Given the description of an element on the screen output the (x, y) to click on. 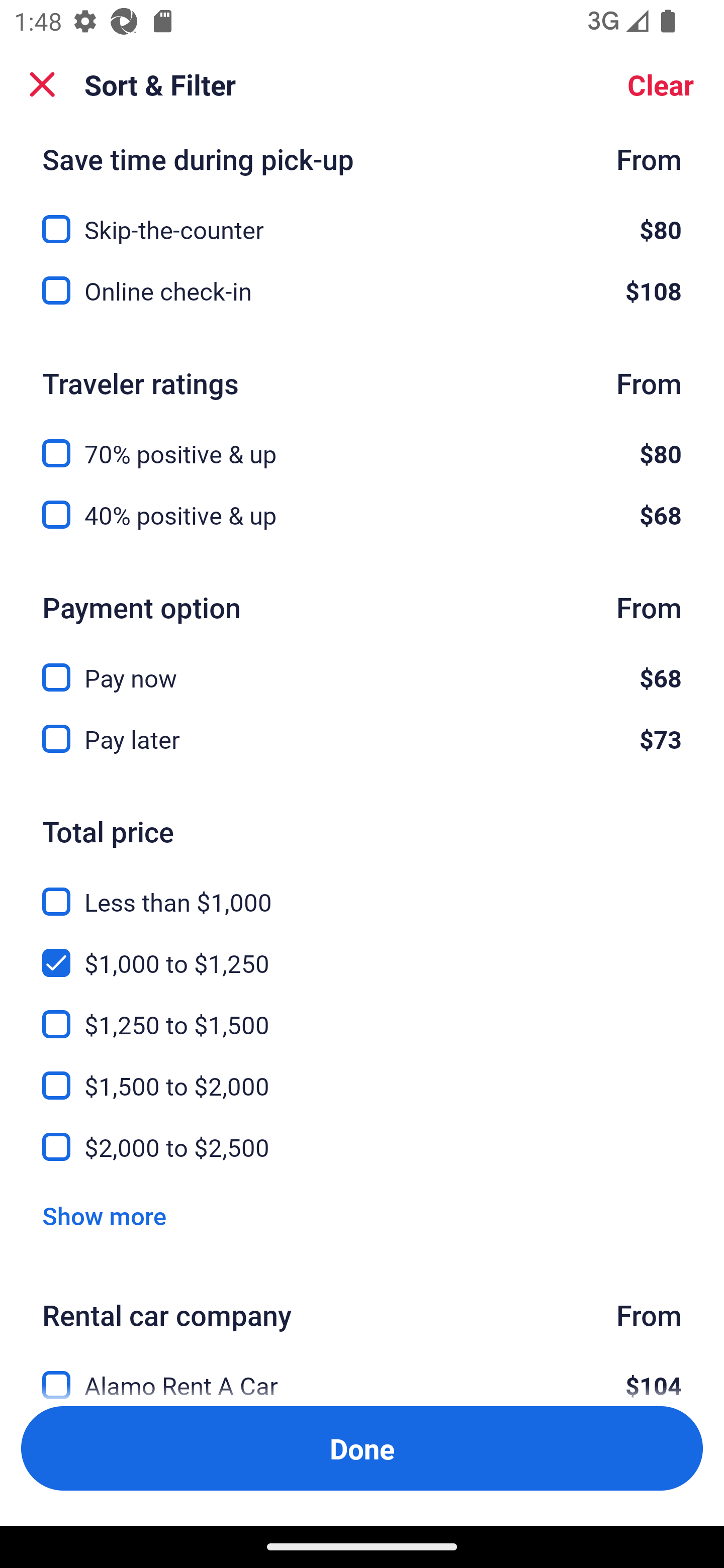
Close Sort and Filter (42, 84)
Clear (660, 84)
Skip-the-counter, $80 Skip-the-counter $80 (361, 218)
Online check-in, $108 Online check-in $108 (361, 290)
70% positive & up, $80 70% positive & up $80 (361, 441)
40% positive & up, $68 40% positive & up $68 (361, 514)
Pay now, $68 Pay now $68 (361, 666)
Pay later, $73 Pay later $73 (361, 738)
Less than $1,000, Less than $1,000 (361, 890)
$1,000 to $1,250, $1,000 to $1,250 (361, 952)
$1,250 to $1,500, $1,250 to $1,500 (361, 1013)
$1,500 to $2,000, $1,500 to $2,000 (361, 1074)
$2,000 to $2,500, $2,000 to $2,500 (361, 1147)
Show more Show more Link (103, 1214)
Alamo Rent A Car, $104 Alamo Rent A Car $104 (361, 1373)
Apply and close Sort and Filter Done (361, 1448)
